Given the description of an element on the screen output the (x, y) to click on. 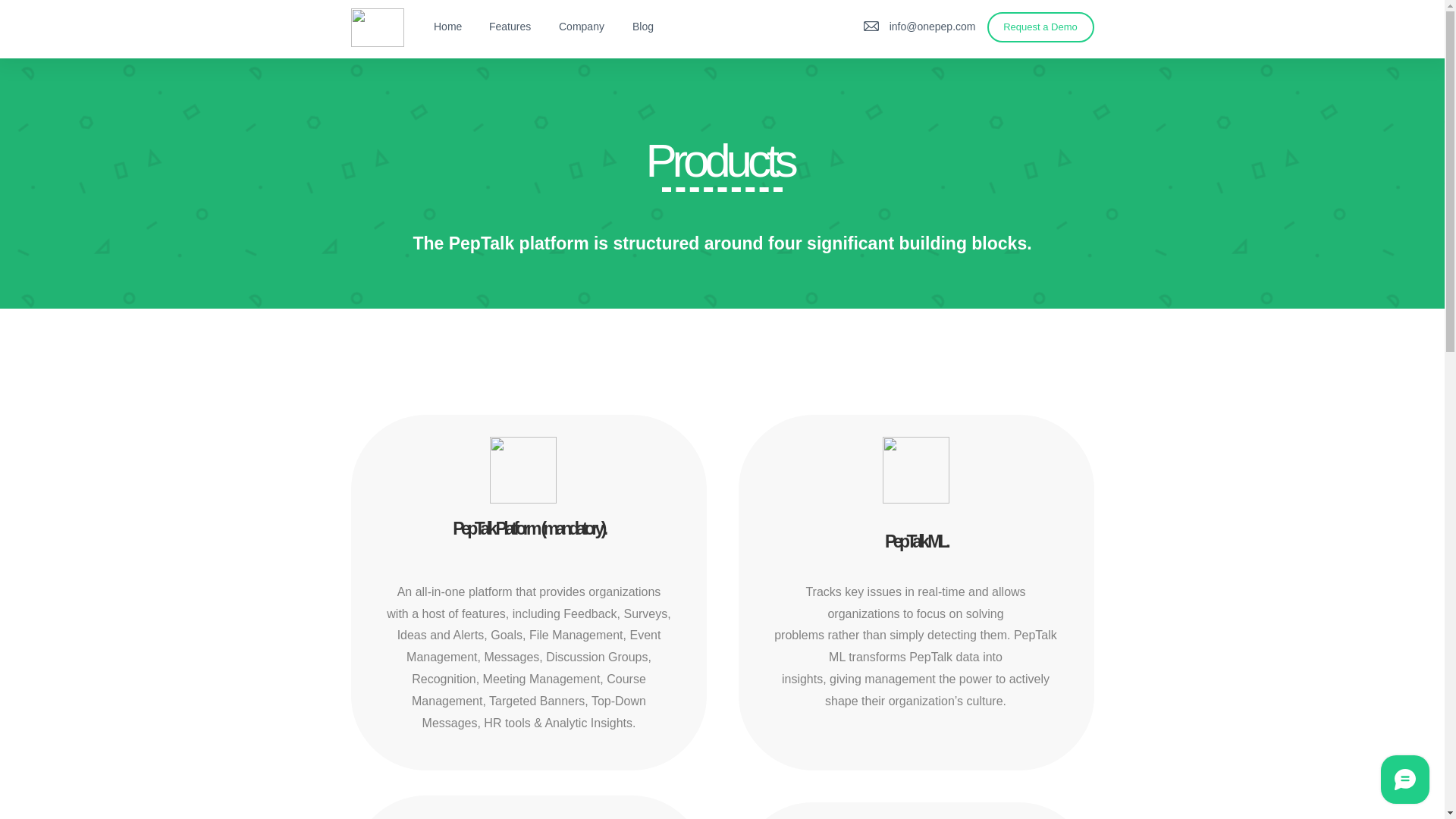
Company (584, 26)
Blog (644, 26)
Home (449, 26)
Request a Demo (1040, 27)
Features (512, 26)
